Given the description of an element on the screen output the (x, y) to click on. 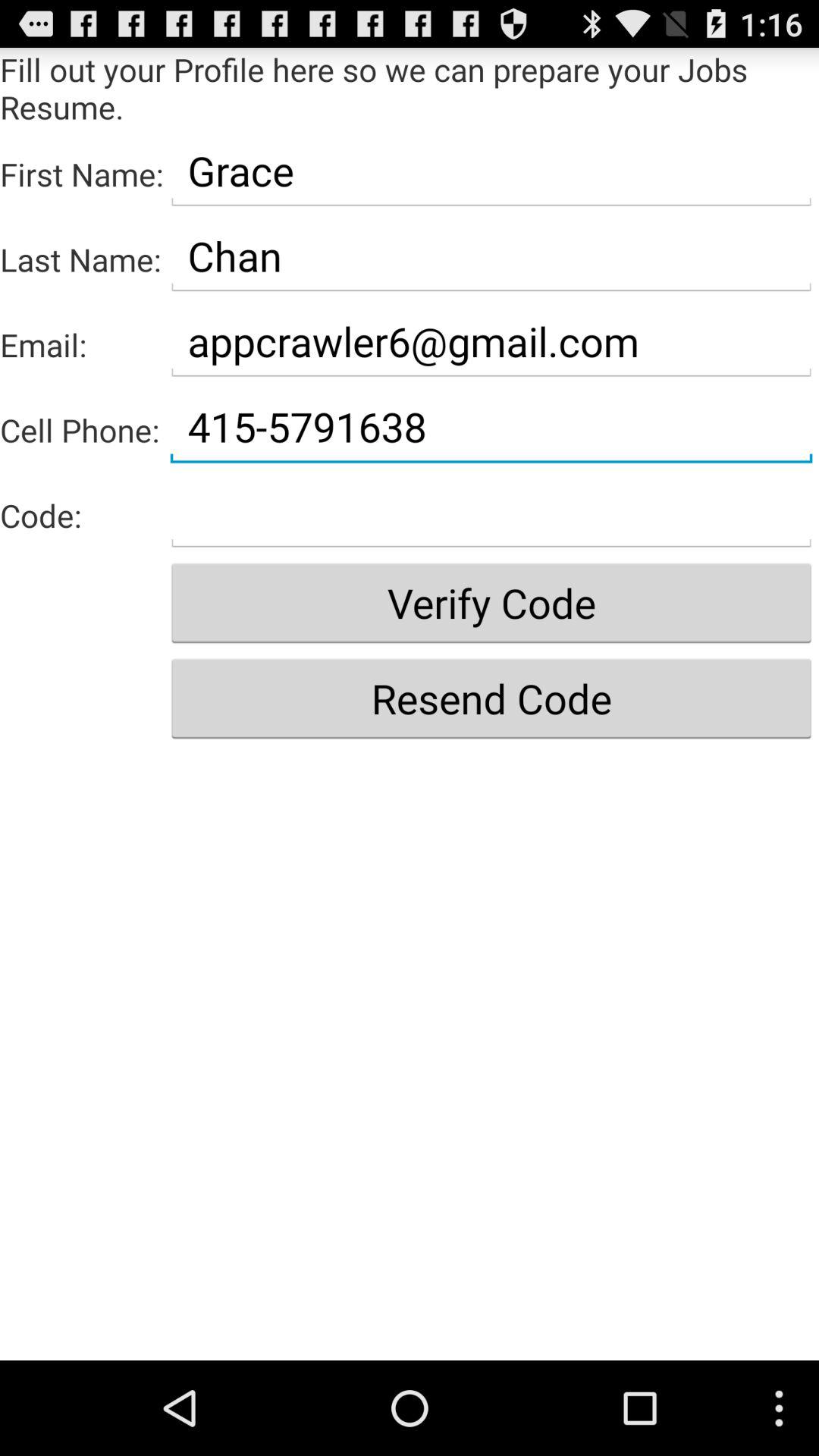
enter code (491, 512)
